Given the description of an element on the screen output the (x, y) to click on. 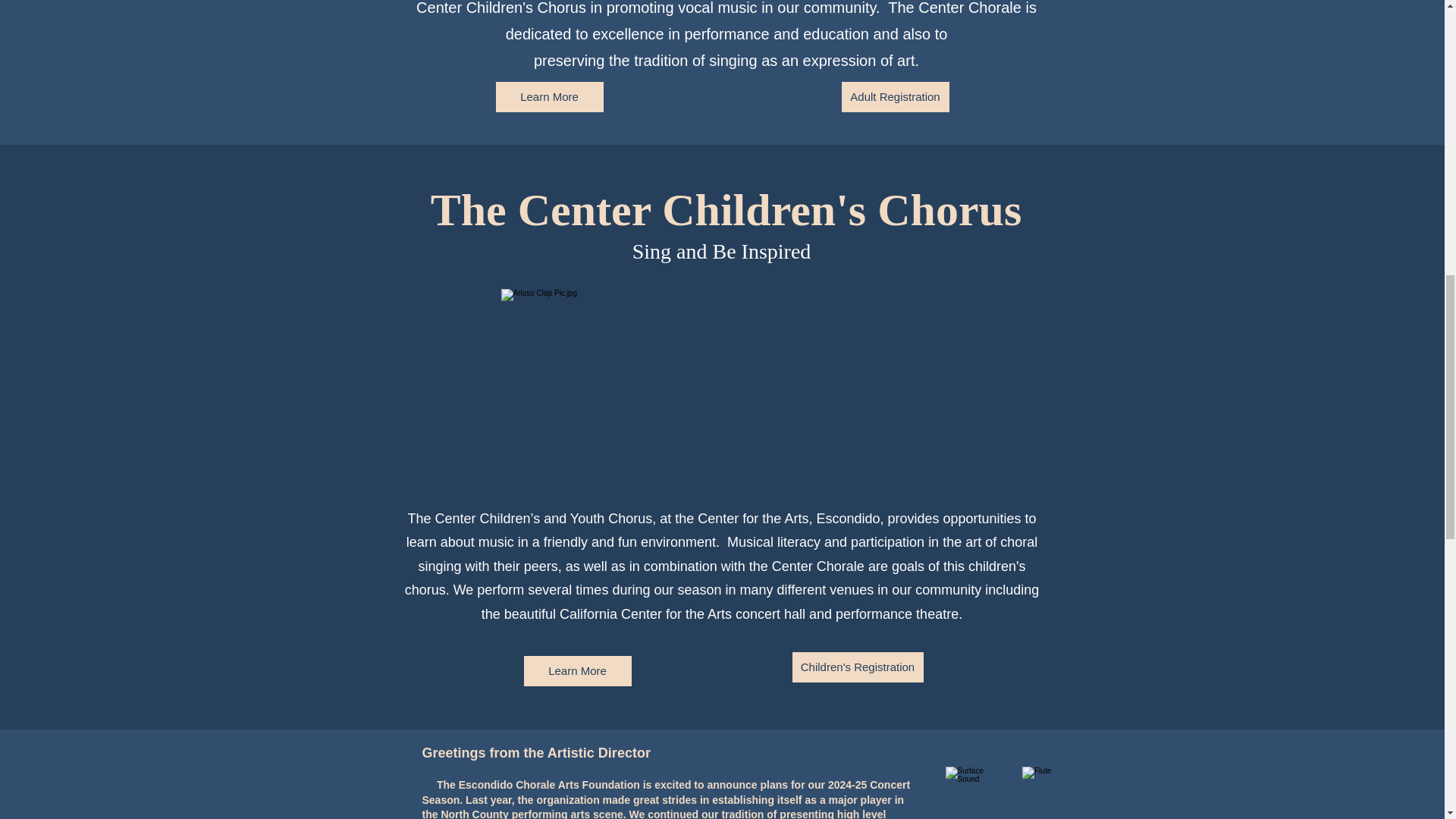
Children's Registration (857, 666)
Learn More (576, 671)
Learn More (550, 96)
Adult Registration (895, 96)
